Given the description of an element on the screen output the (x, y) to click on. 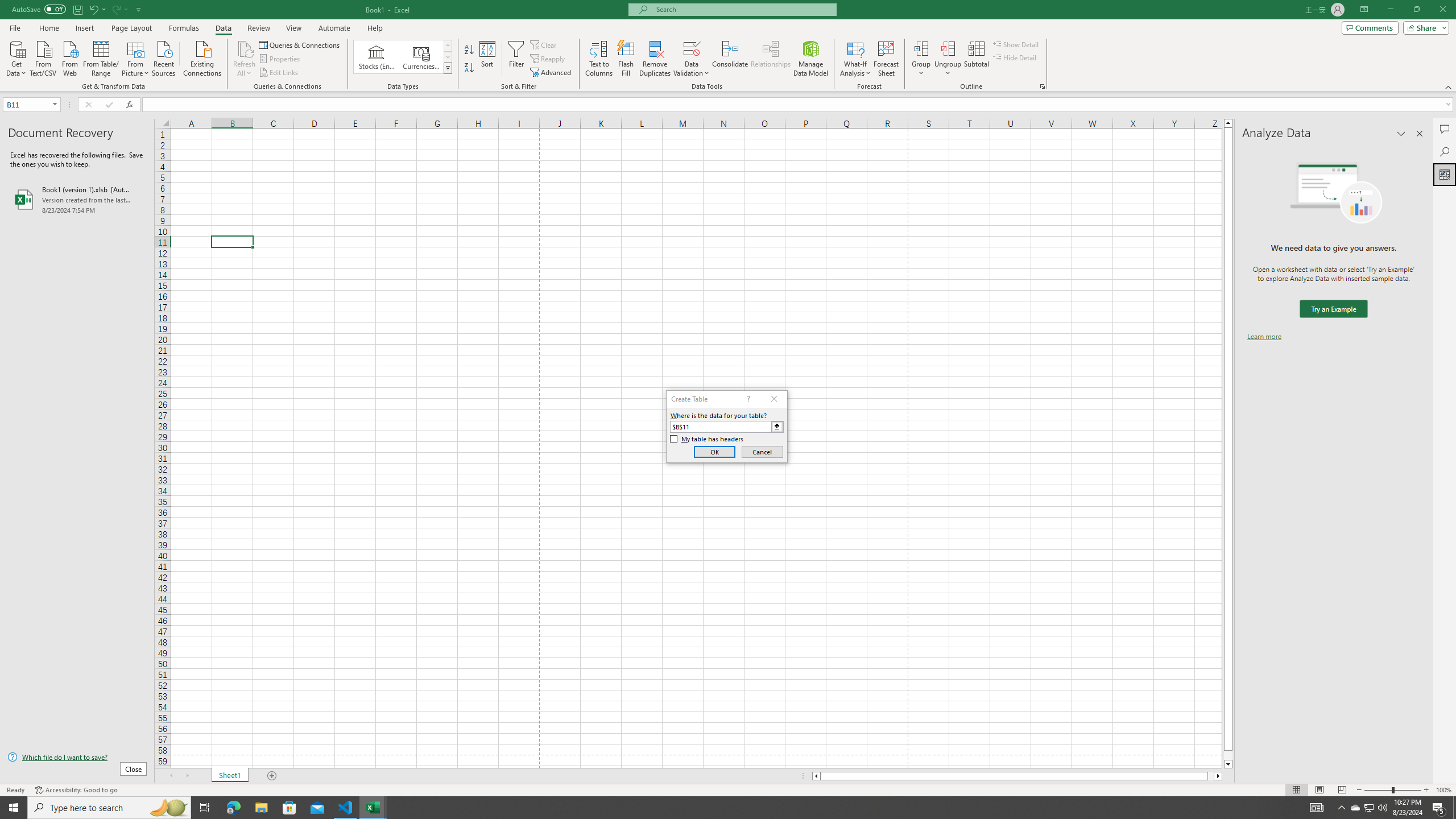
Recent Sources (163, 57)
Group... (921, 58)
Minimize (1390, 9)
Save (77, 9)
Page down (1228, 755)
Consolidate... (729, 58)
Sort Z to A (469, 67)
Scroll Left (171, 775)
File Tab (15, 27)
Queries & Connections (300, 44)
Search (1444, 151)
Share (1423, 27)
Sheet1 (229, 775)
Page right (1211, 775)
From Table/Range (100, 57)
